Given the description of an element on the screen output the (x, y) to click on. 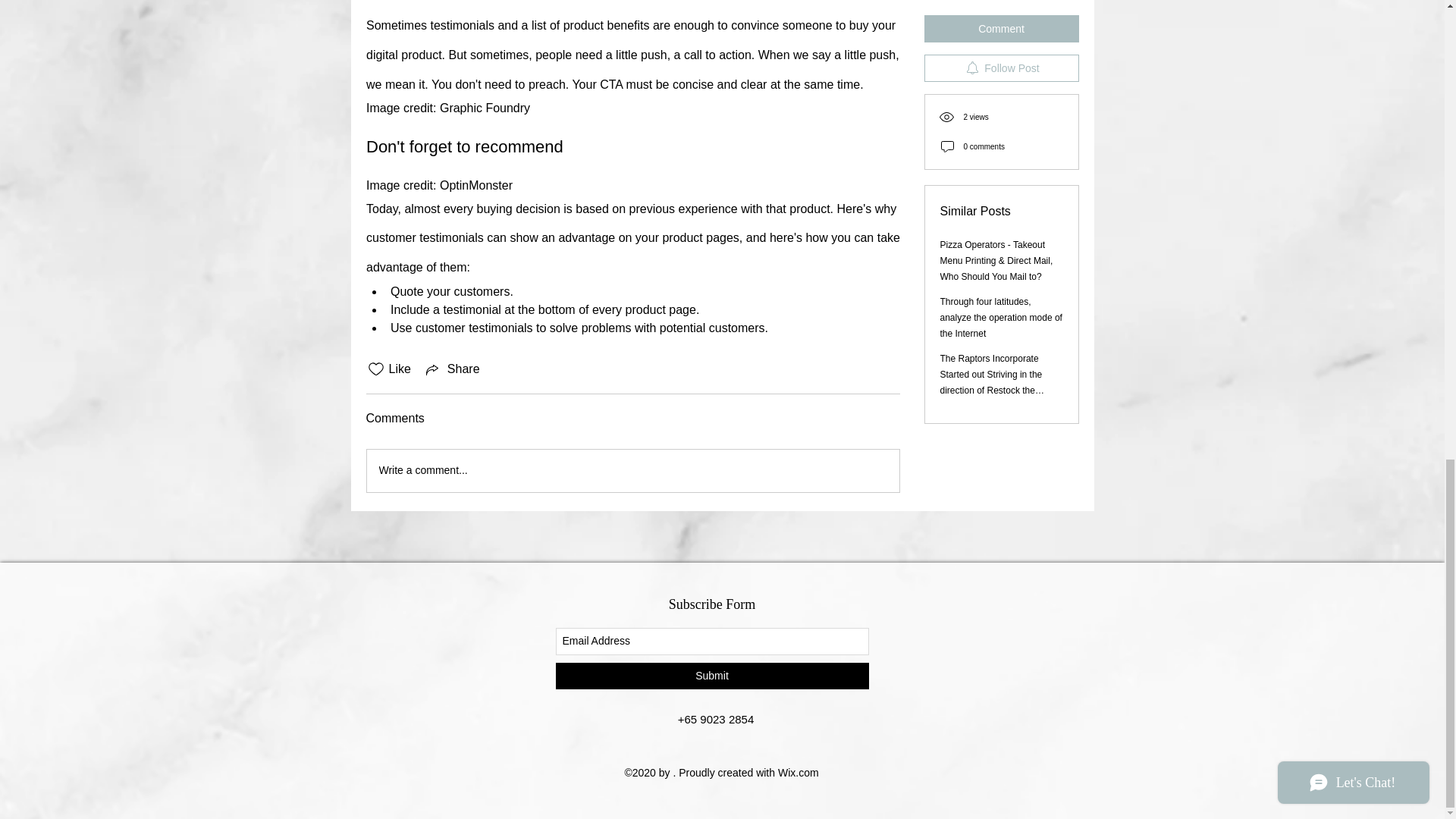
Submit (710, 675)
Write a comment... (632, 470)
Share (451, 369)
